Given the description of an element on the screen output the (x, y) to click on. 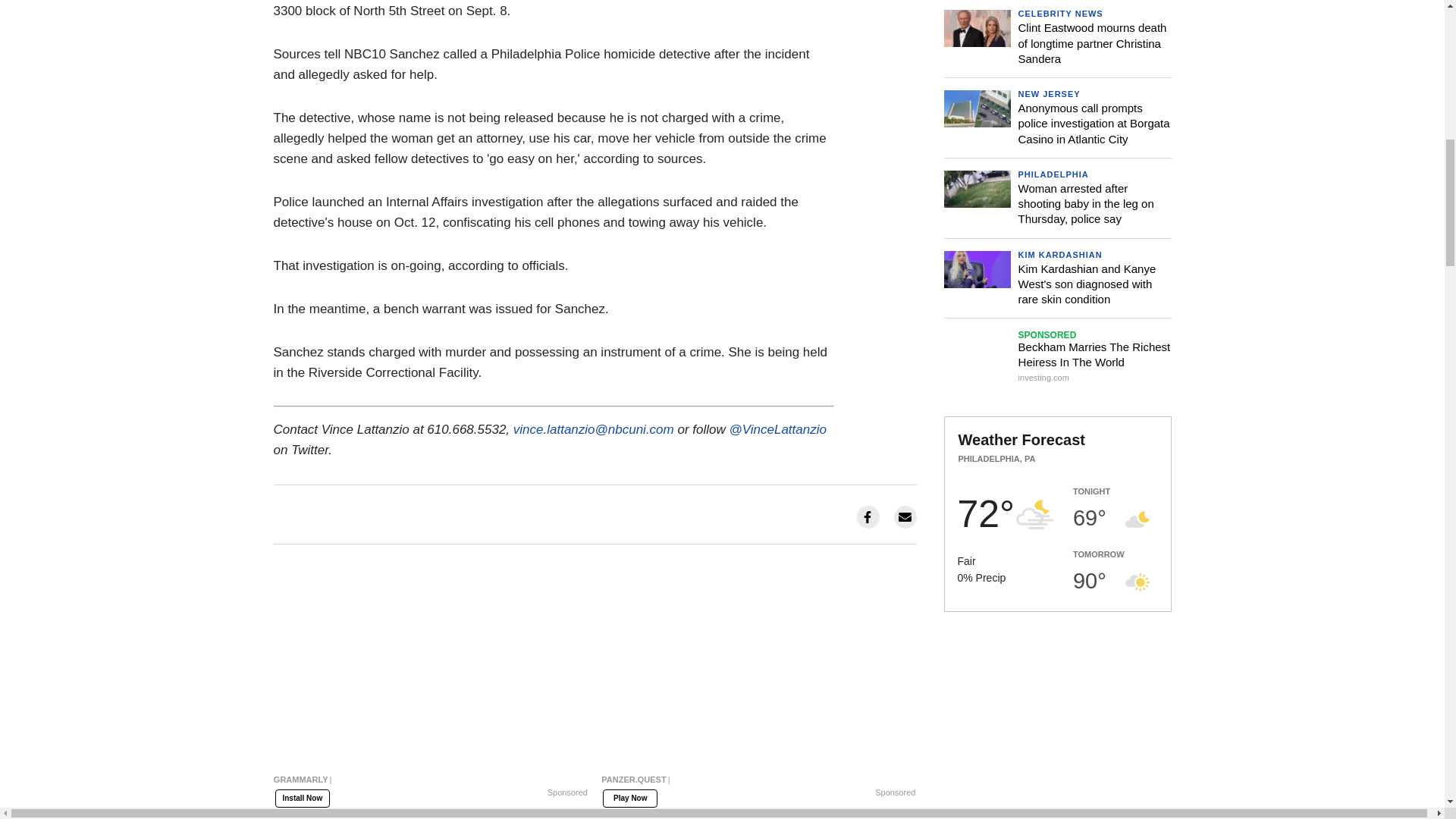
Beckham Marries The Richest Heiress In The World (1057, 357)
Install Now (302, 797)
Sponsored (895, 792)
What is your writing missing? (430, 782)
Sponsored (567, 792)
